Given the description of an element on the screen output the (x, y) to click on. 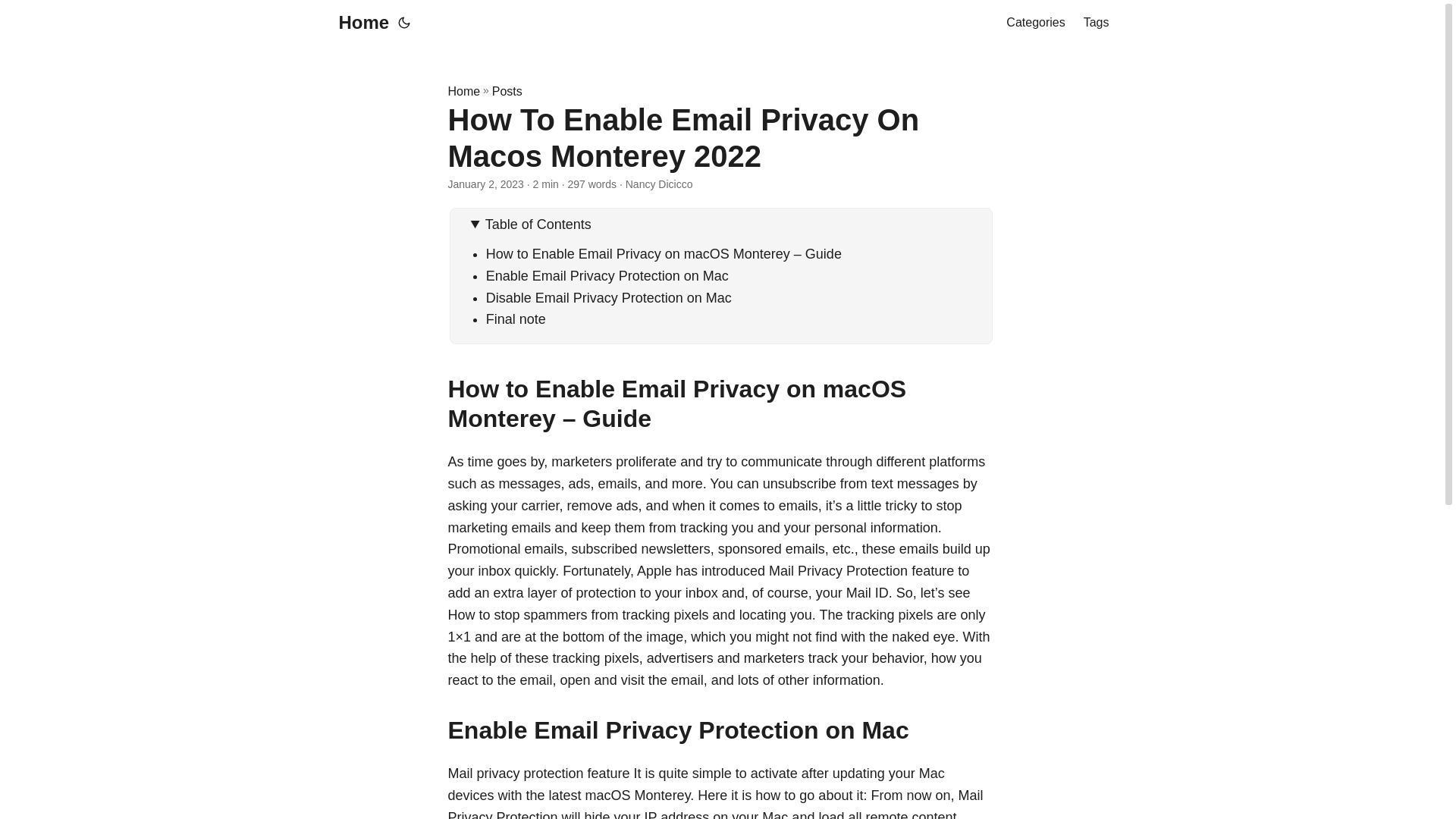
Final note (516, 319)
Disable Email Privacy Protection on Mac (609, 297)
Enable Email Privacy Protection on Mac (607, 275)
Categories (1035, 22)
Home (463, 91)
Categories (1035, 22)
Posts (507, 91)
Home (359, 22)
